Given the description of an element on the screen output the (x, y) to click on. 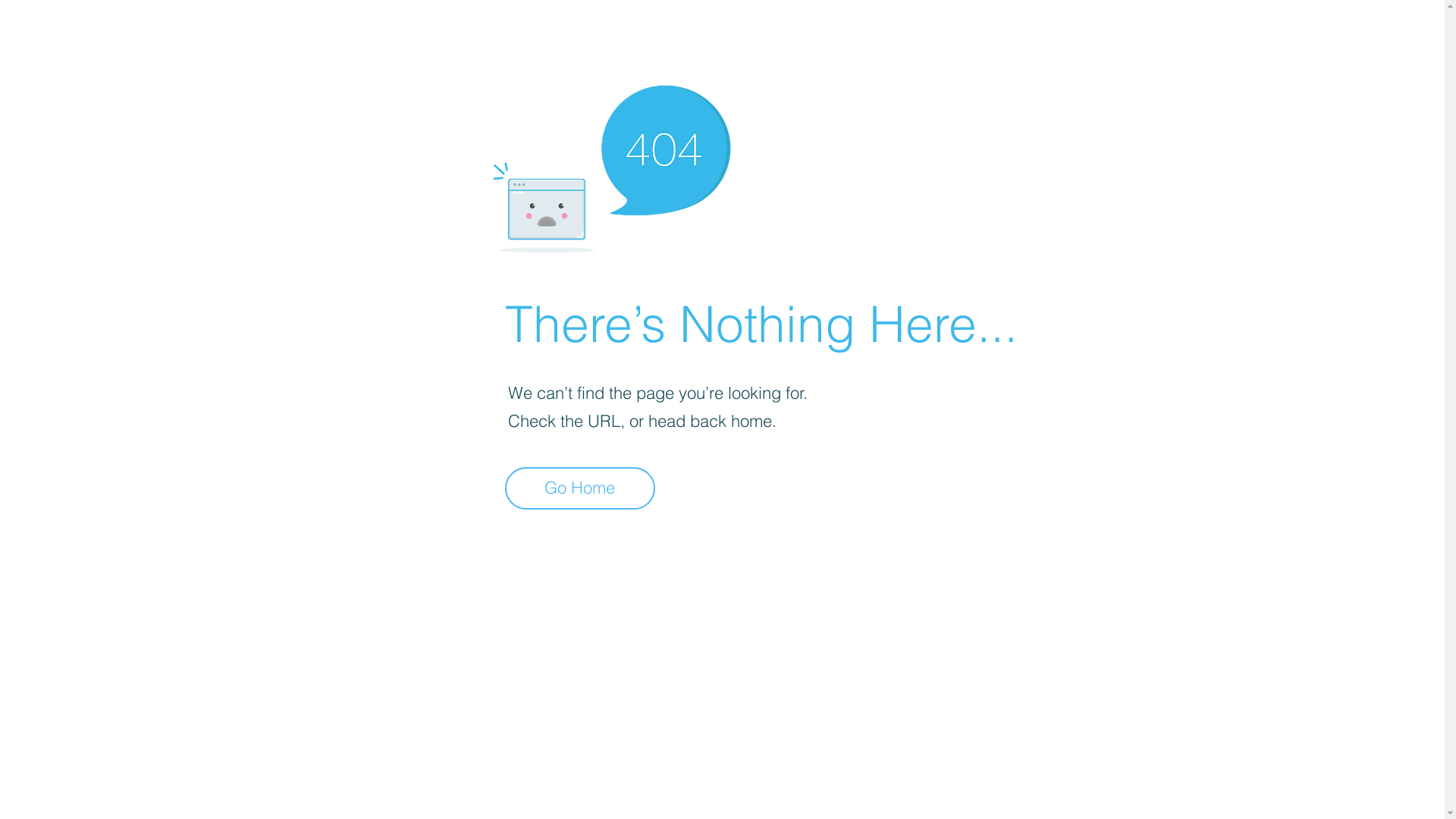
404-icon_2.png Element type: hover (610, 164)
Go Home Element type: text (580, 488)
